Given the description of an element on the screen output the (x, y) to click on. 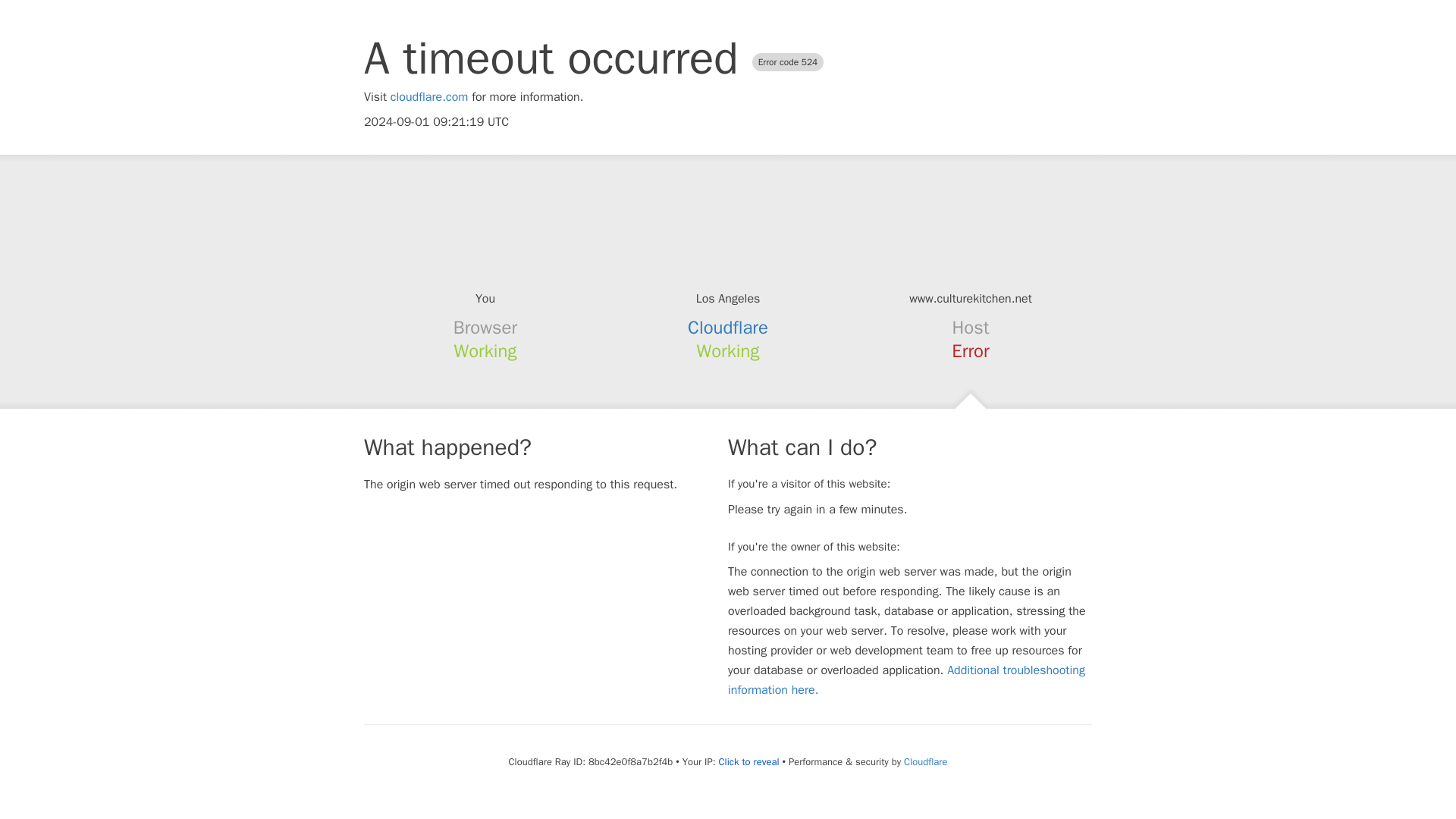
Cloudflare (925, 761)
cloudflare.com (429, 96)
Click to reveal (748, 762)
Cloudflare (727, 327)
Additional troubleshooting information here. (906, 679)
